Given the description of an element on the screen output the (x, y) to click on. 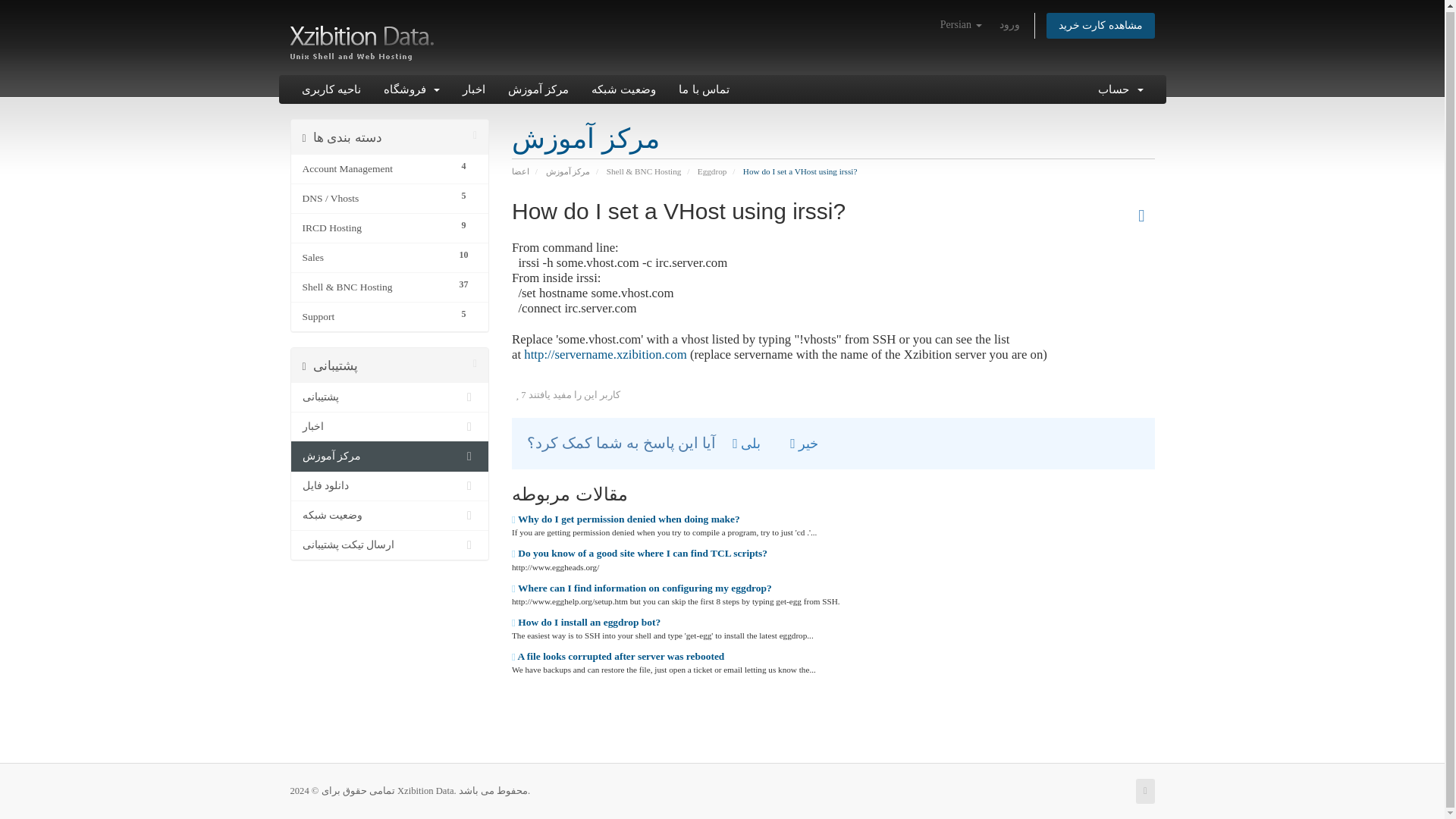
Sales (375, 257)
IRCD Hosting (375, 228)
Support (375, 316)
Persian (961, 24)
Account Management  (375, 168)
